Given the description of an element on the screen output the (x, y) to click on. 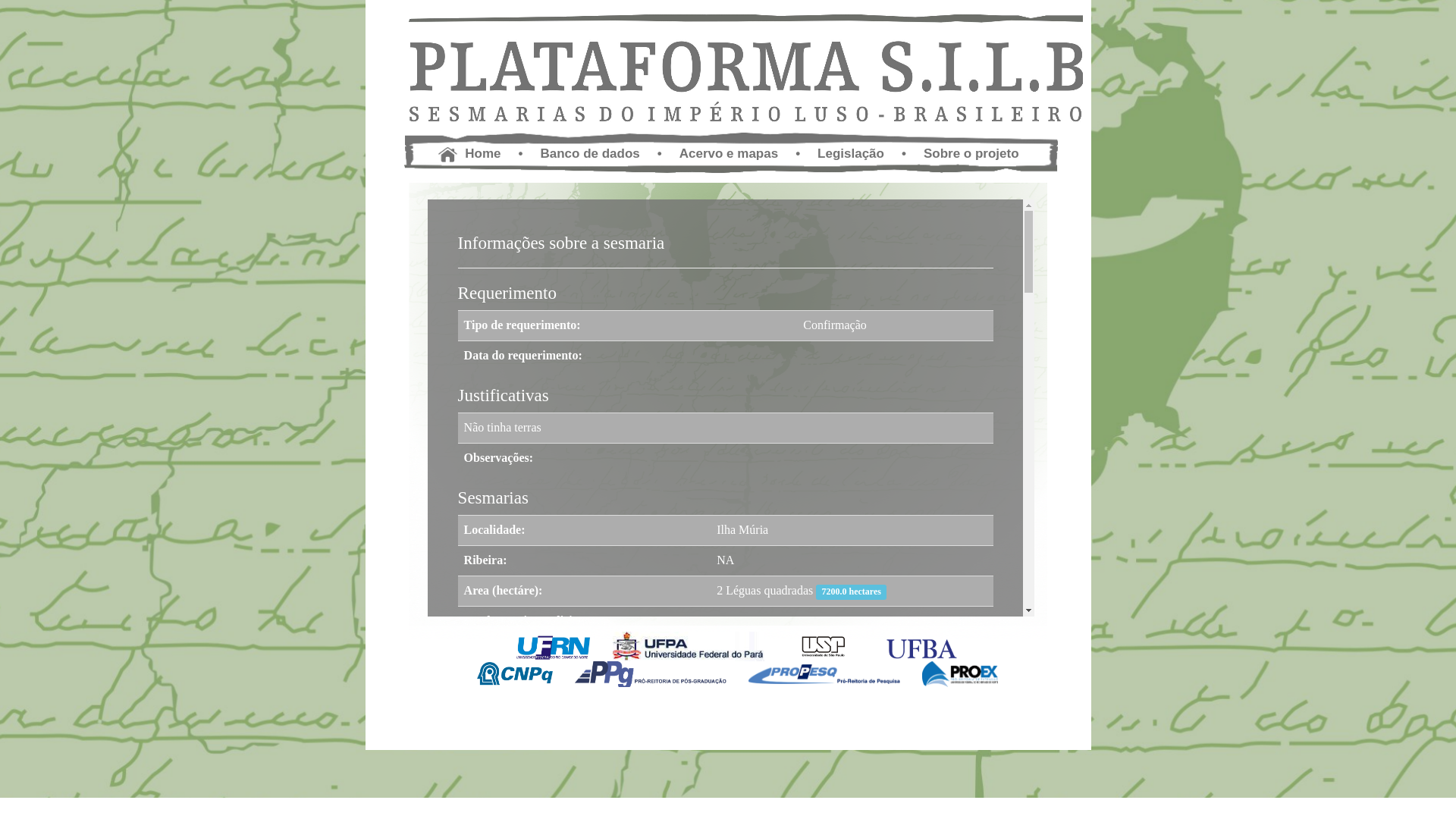
Acervo e mapas Element type: text (728, 153)
Home Element type: text (469, 153)
